Given the description of an element on the screen output the (x, y) to click on. 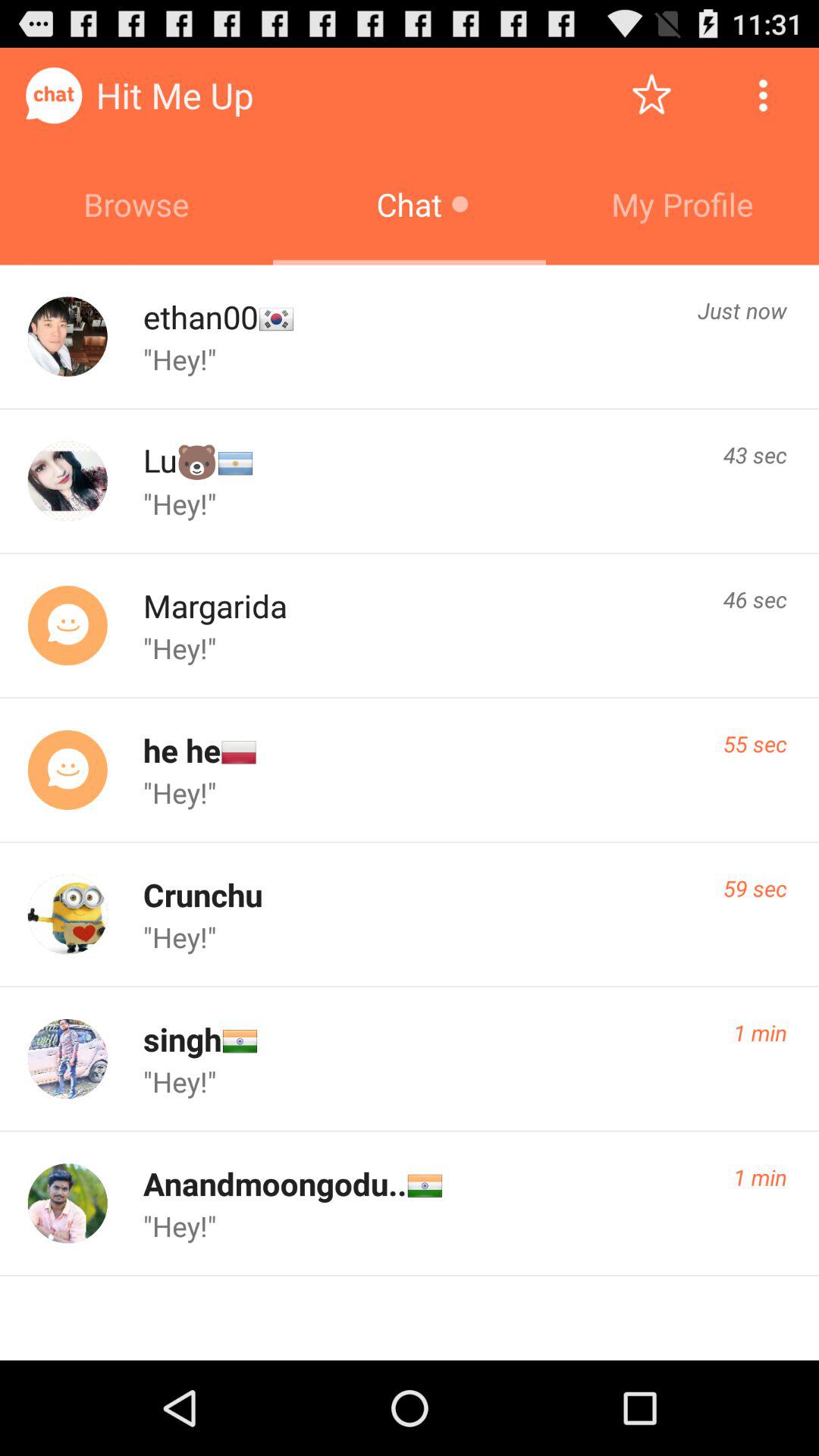
swipe to 59 sec app (755, 888)
